Given the description of an element on the screen output the (x, y) to click on. 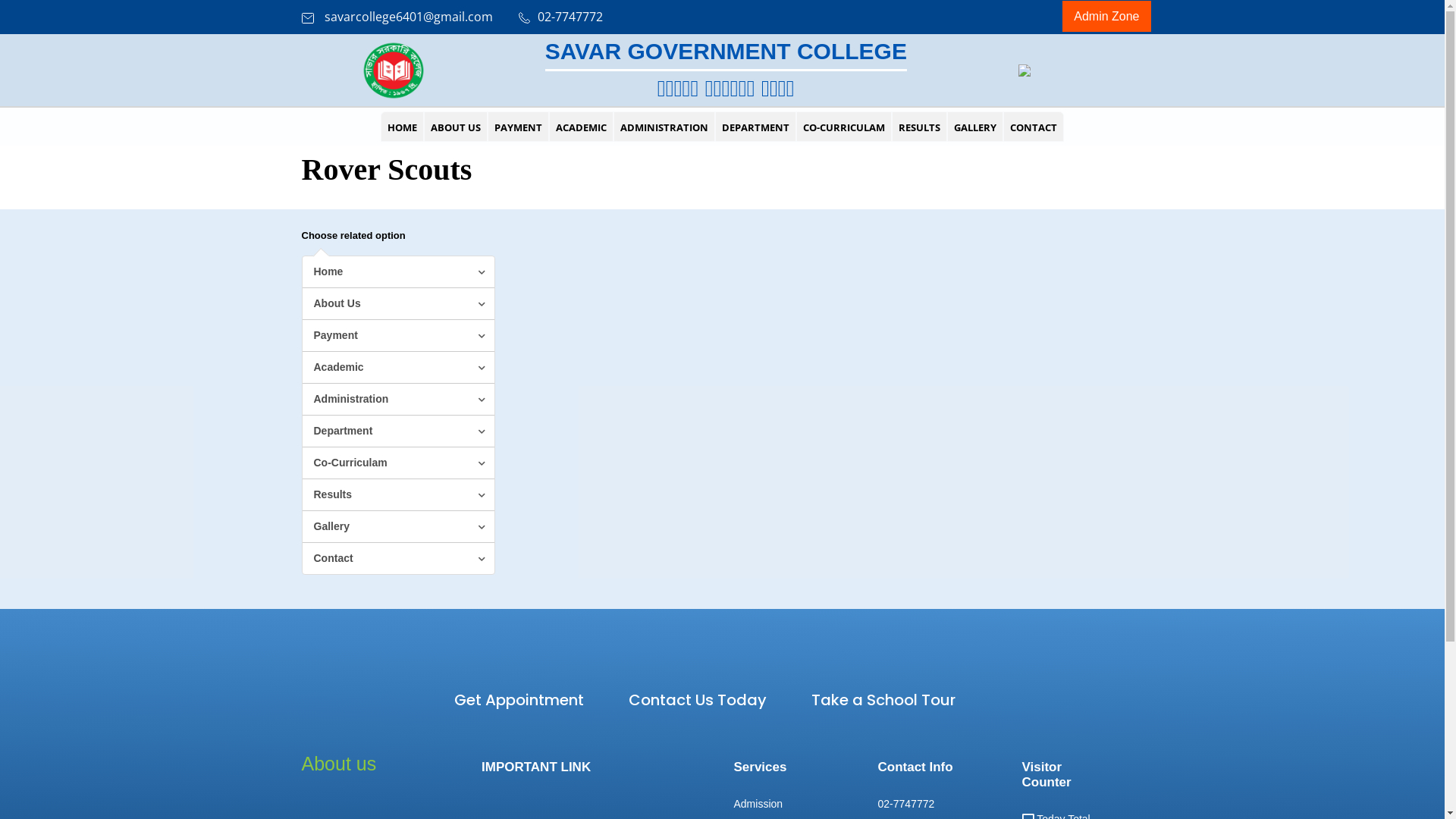
ABOUT US Element type: text (455, 127)
ADMINISTRATION Element type: text (664, 127)
HOME Element type: text (402, 127)
CONTACT Element type: text (1033, 127)
About Us Element type: text (397, 304)
Department Element type: text (397, 431)
Administration Element type: text (397, 399)
Academic Element type: text (397, 367)
Results Element type: text (397, 495)
Payment Element type: text (397, 335)
PAYMENT Element type: text (518, 127)
savarcollege6401@gmail.com Element type: text (396, 16)
02-7747772 Element type: text (906, 803)
02-7747772 Element type: text (560, 16)
Gallery Element type: text (397, 526)
Admin Zone Element type: text (1106, 15)
CO-CURRICULAM Element type: text (843, 127)
Home Element type: text (397, 272)
DEPARTMENT Element type: text (755, 127)
RESULTS Element type: text (919, 127)
GALLERY Element type: text (974, 127)
Contact Element type: text (397, 558)
ACADEMIC Element type: text (580, 127)
Co-Curriculam Element type: text (397, 463)
